Given the description of an element on the screen output the (x, y) to click on. 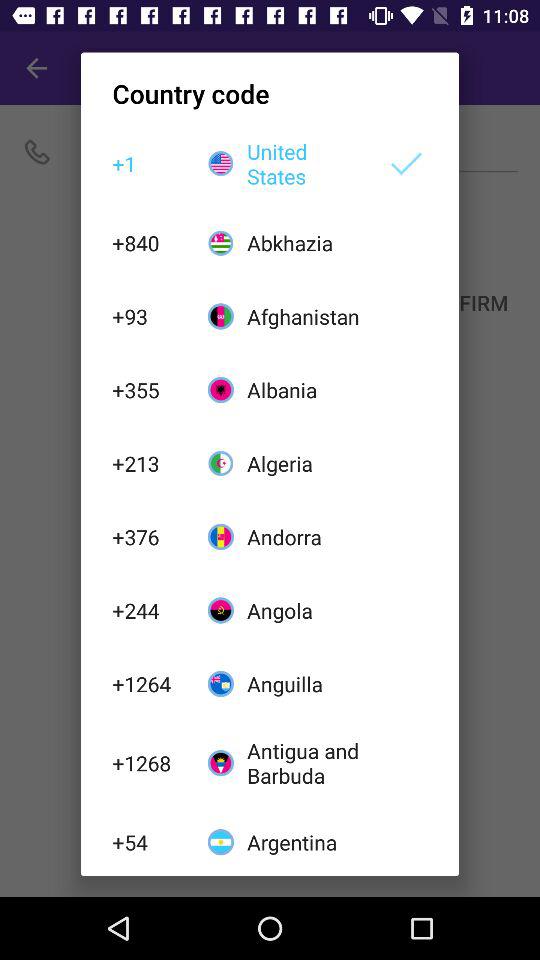
jump to the +54 icon (149, 842)
